Given the description of an element on the screen output the (x, y) to click on. 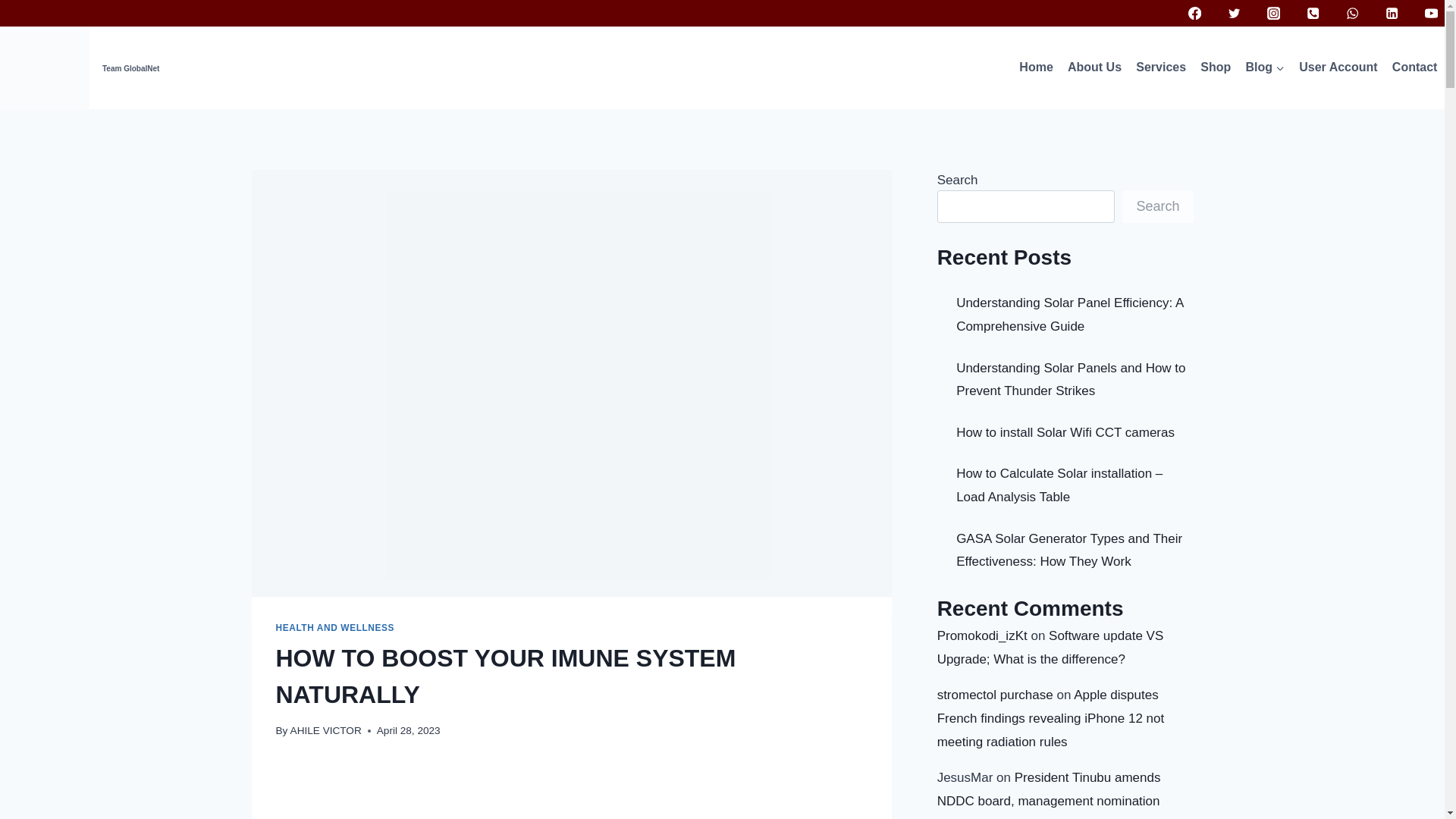
HEALTH AND WELLNESS (335, 627)
Blog (1265, 67)
Services (1161, 67)
Team GlobalNet (79, 67)
User Account (1339, 67)
Home (1036, 67)
AHILE VICTOR (325, 730)
About Us (1093, 67)
Advertisement (571, 791)
Shop (1216, 67)
